Given the description of an element on the screen output the (x, y) to click on. 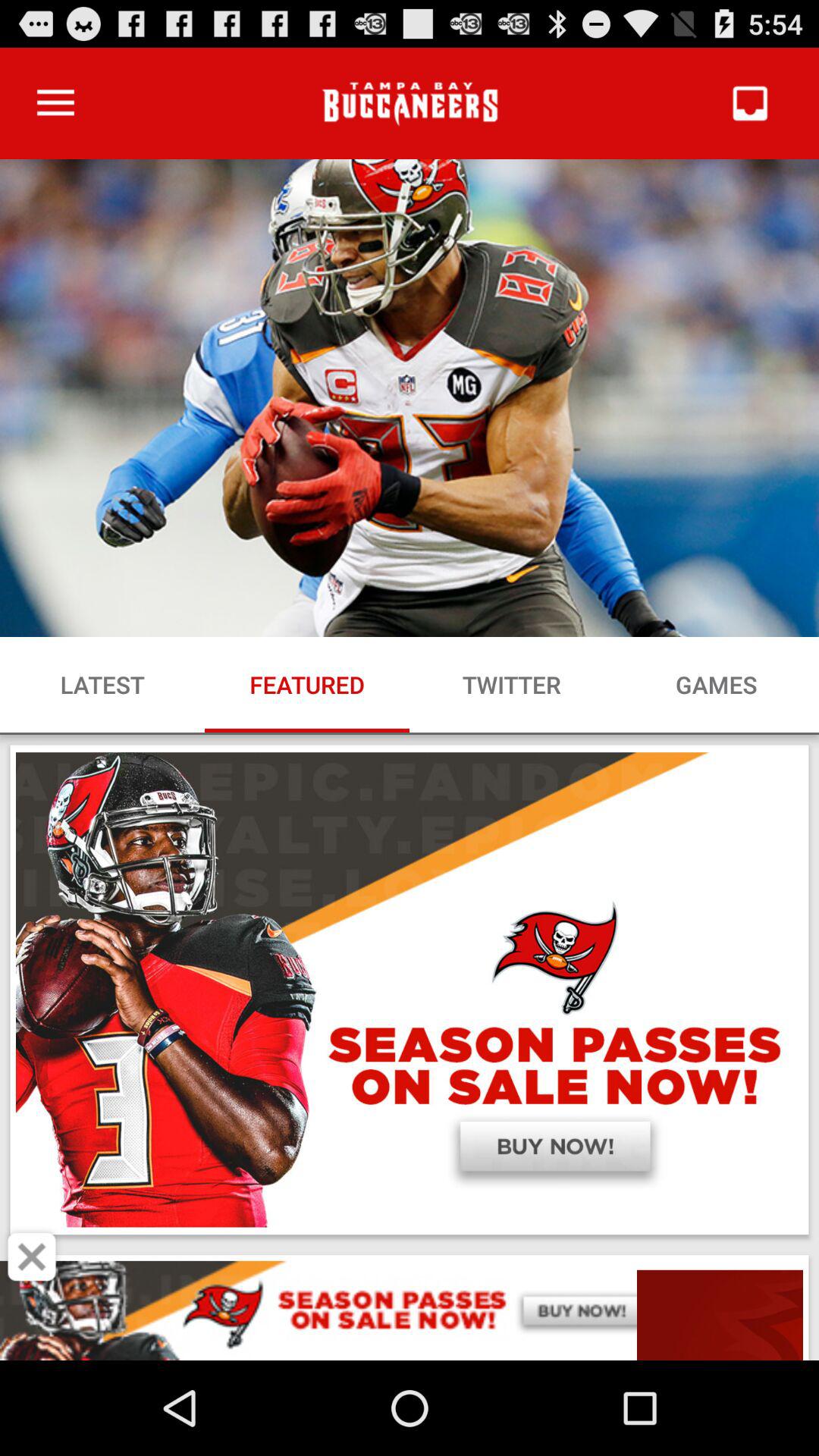
close advert (31, 1256)
